Given the description of an element on the screen output the (x, y) to click on. 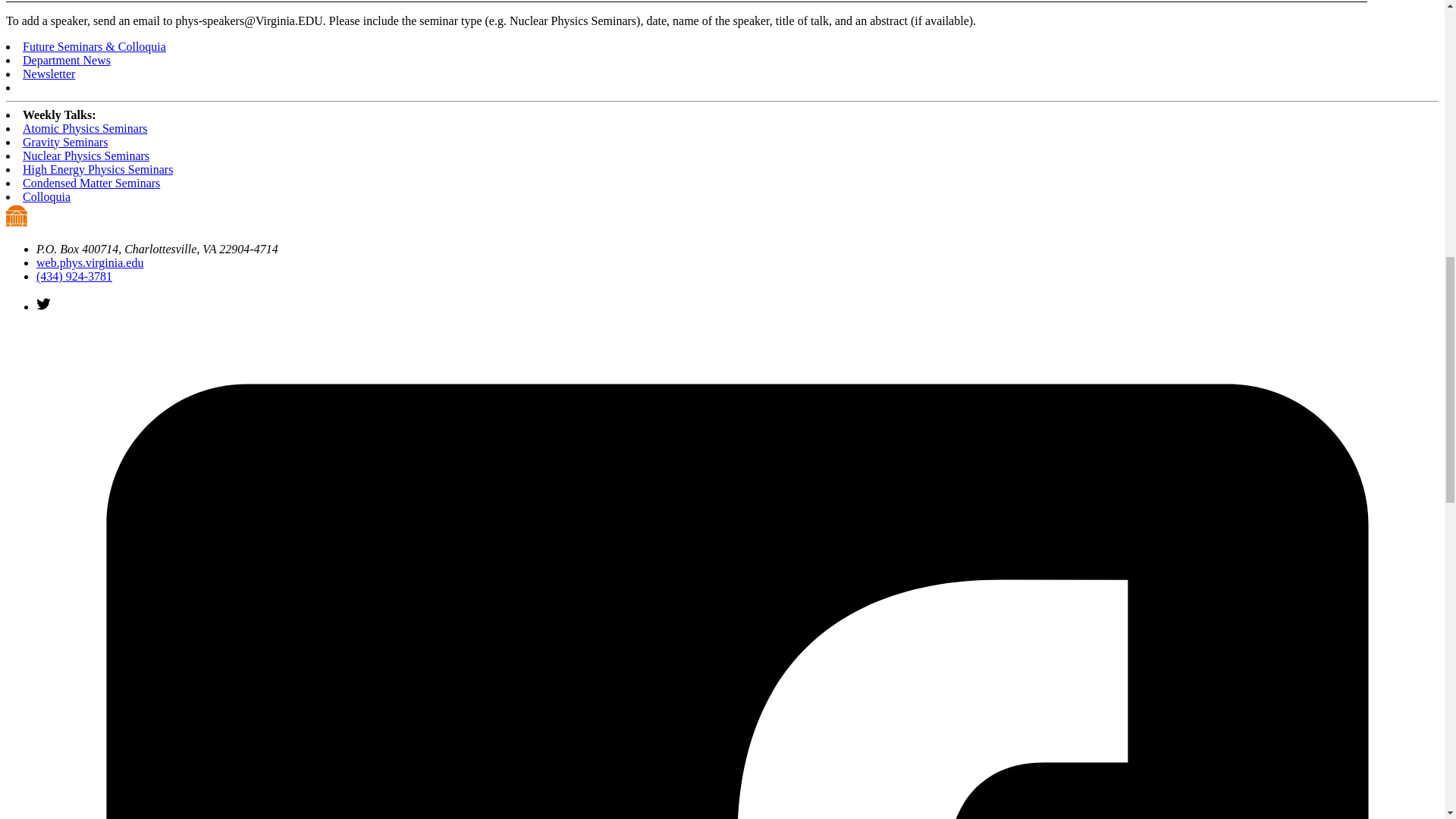
Newsletter (49, 73)
High Energy Physics Seminars (98, 169)
Twitter (43, 303)
Department News (66, 60)
Nuclear Physics Seminars (86, 155)
Gravity Seminars (65, 141)
UVa Physics on Twitter (43, 306)
Atomic Physics Seminars (85, 128)
